Given the description of an element on the screen output the (x, y) to click on. 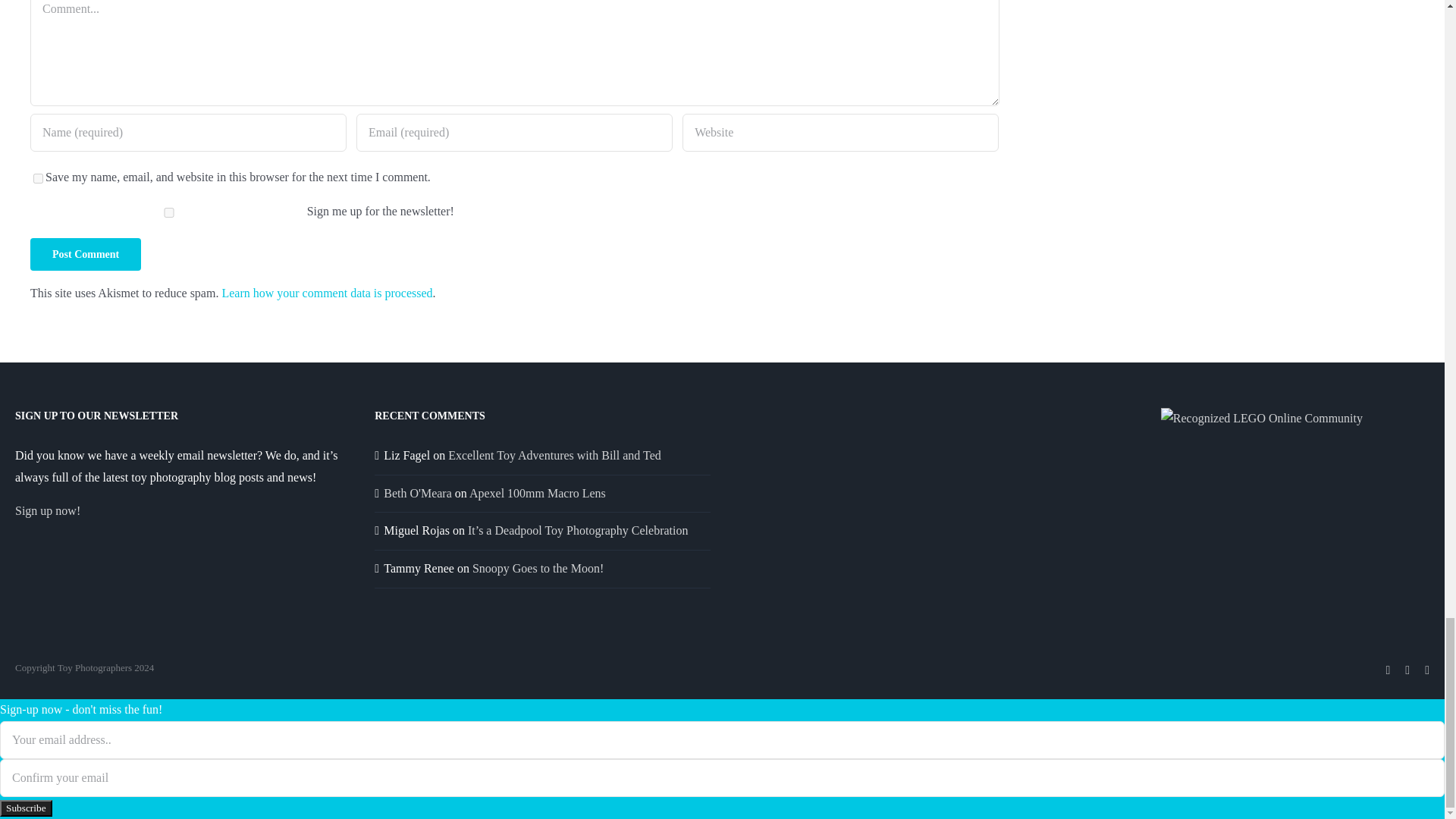
1 (168, 212)
Post Comment (85, 254)
Subscribe (26, 808)
yes (38, 178)
